Given the description of an element on the screen output the (x, y) to click on. 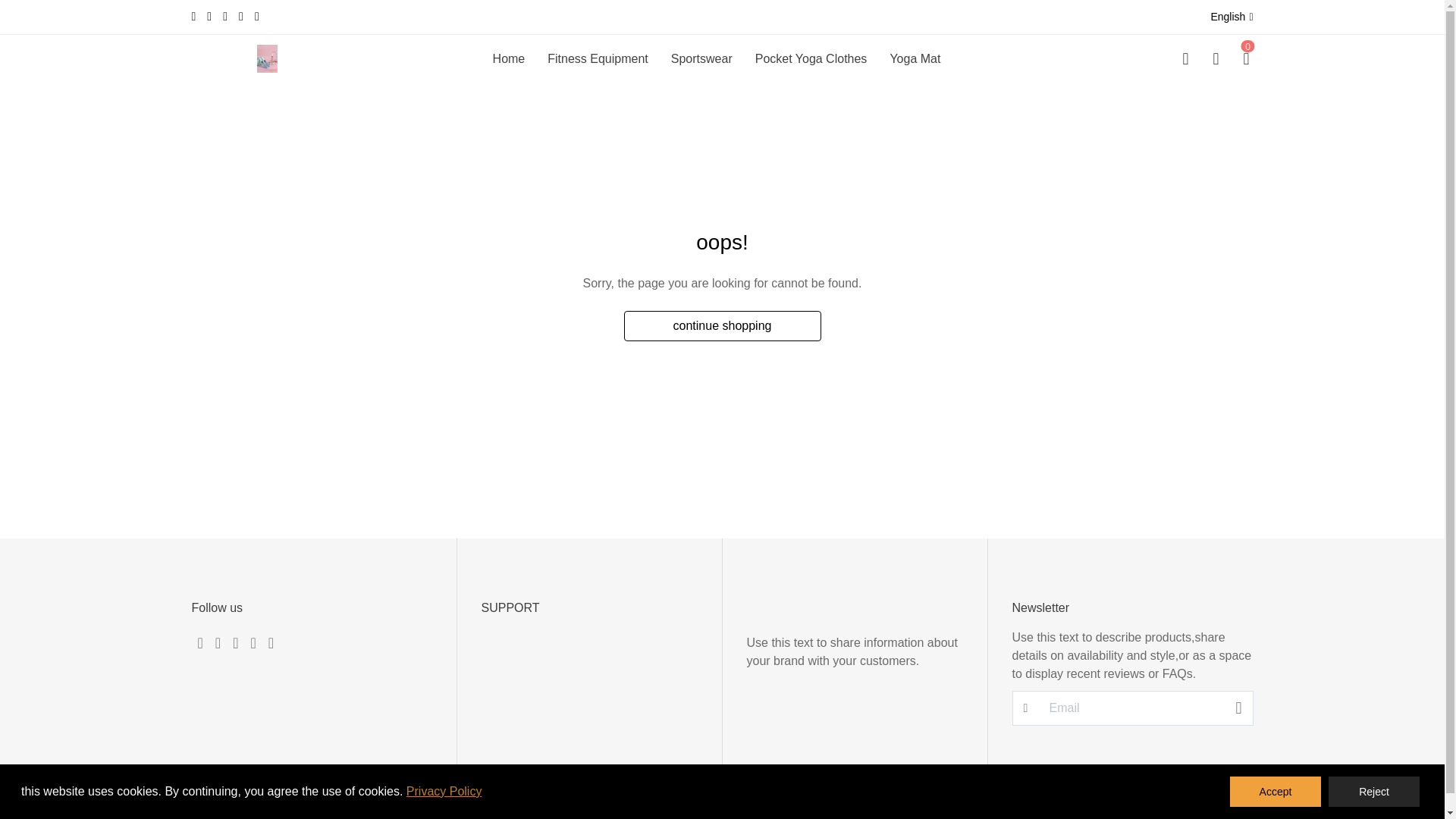
Fitness Equipment (597, 58)
Yoga Mat (914, 58)
continue shopping (722, 326)
Privacy Policy (443, 790)
Pocket Yoga Clothes (811, 58)
Home (509, 58)
Sportswear (701, 58)
